Given the description of an element on the screen output the (x, y) to click on. 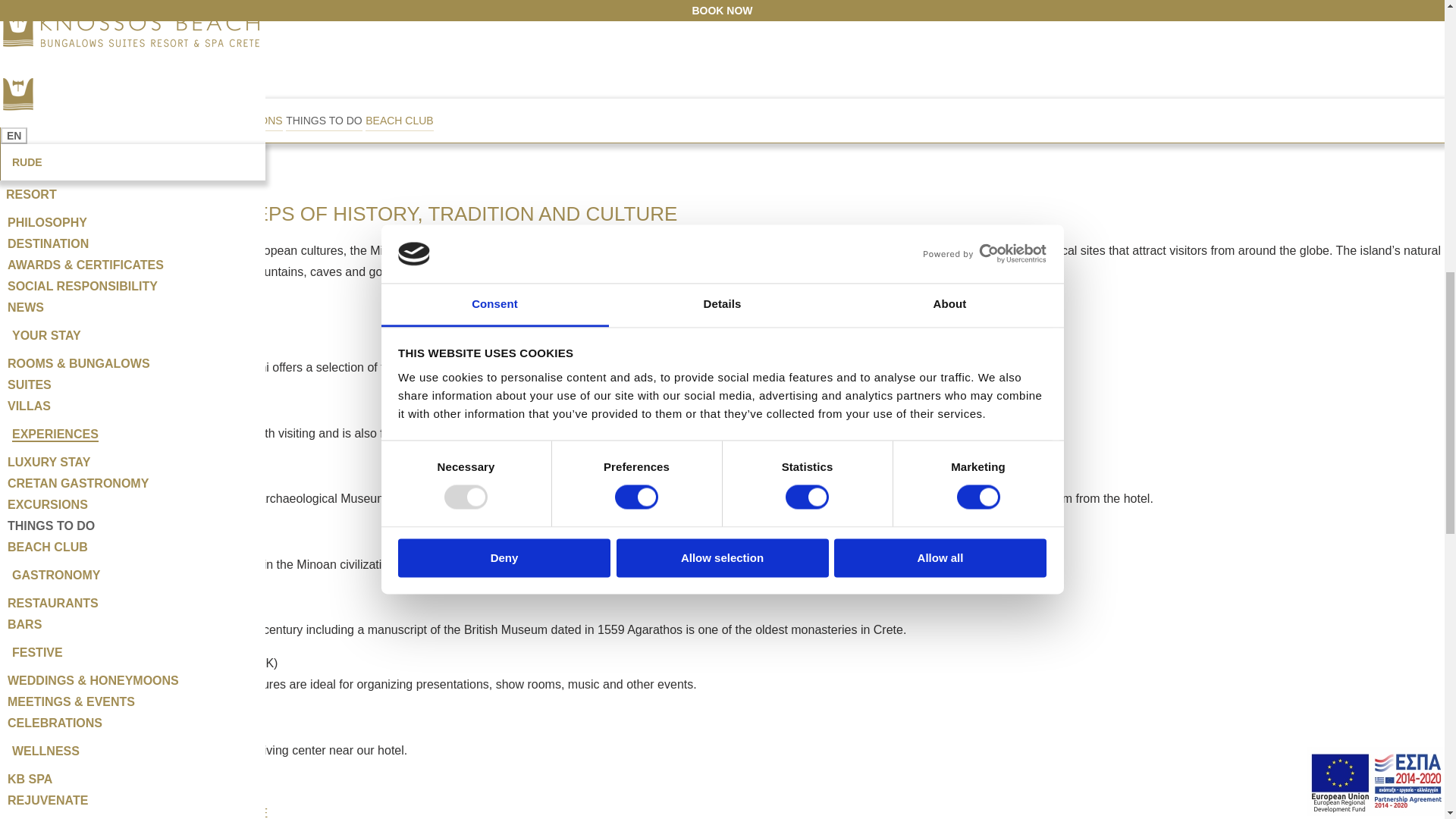
LUXURY STAY (46, 120)
CRETAN GASTRONOMY (147, 120)
EXCURSIONS (247, 120)
BEACH CLUB (398, 120)
THINGS TO DO (323, 120)
Web Check-in (57, 128)
